Given the description of an element on the screen output the (x, y) to click on. 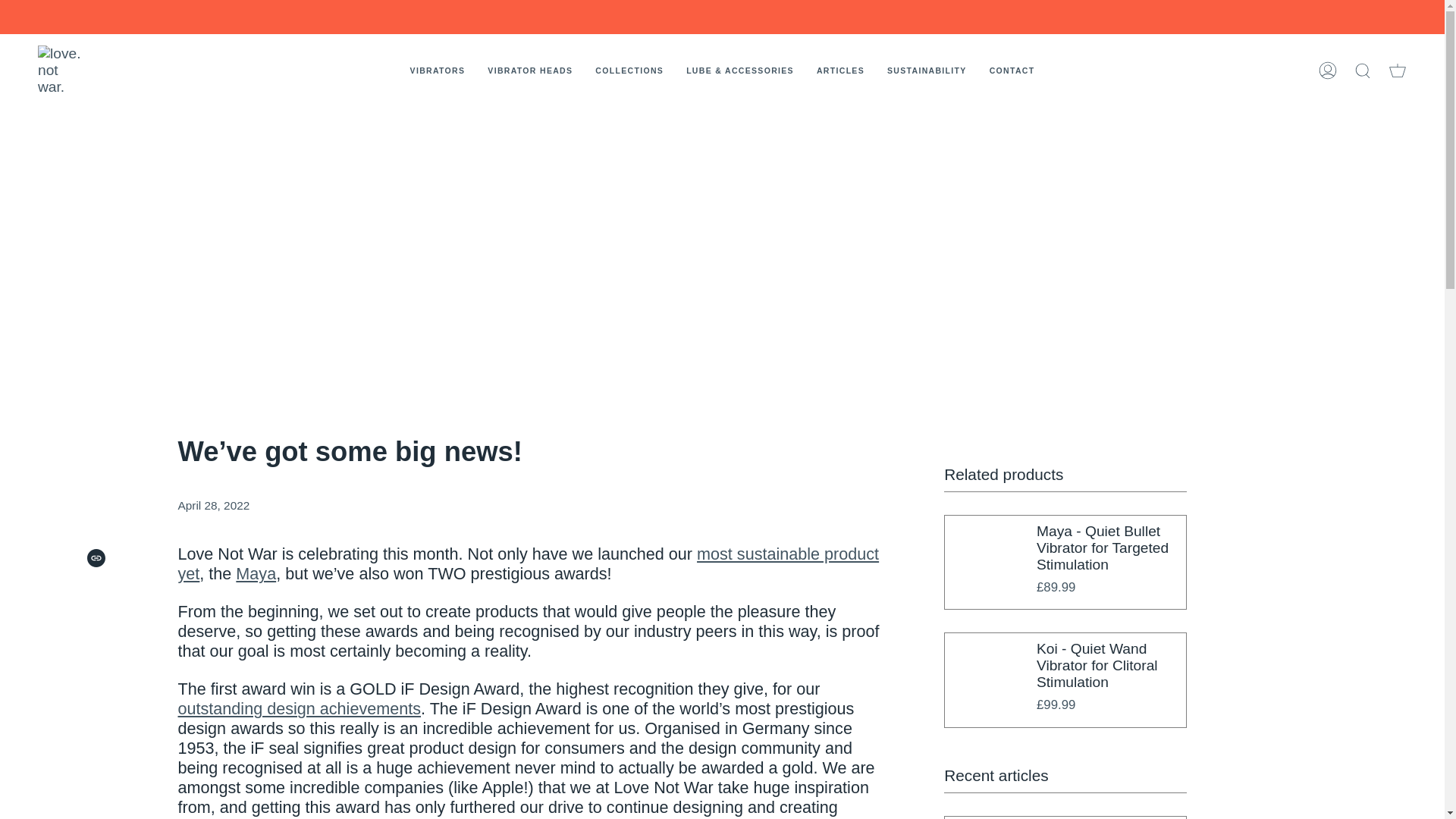
SUSTAINABILITY (927, 70)
CONTACT (1012, 70)
Maya Bullet Vibrator (255, 573)
ARTICLES (840, 70)
VIBRATORS (437, 70)
COLLECTIONS (629, 70)
Love not war collection page (298, 708)
VIBRATOR HEADS (529, 70)
Maya blog post page (528, 563)
